Given the description of an element on the screen output the (x, y) to click on. 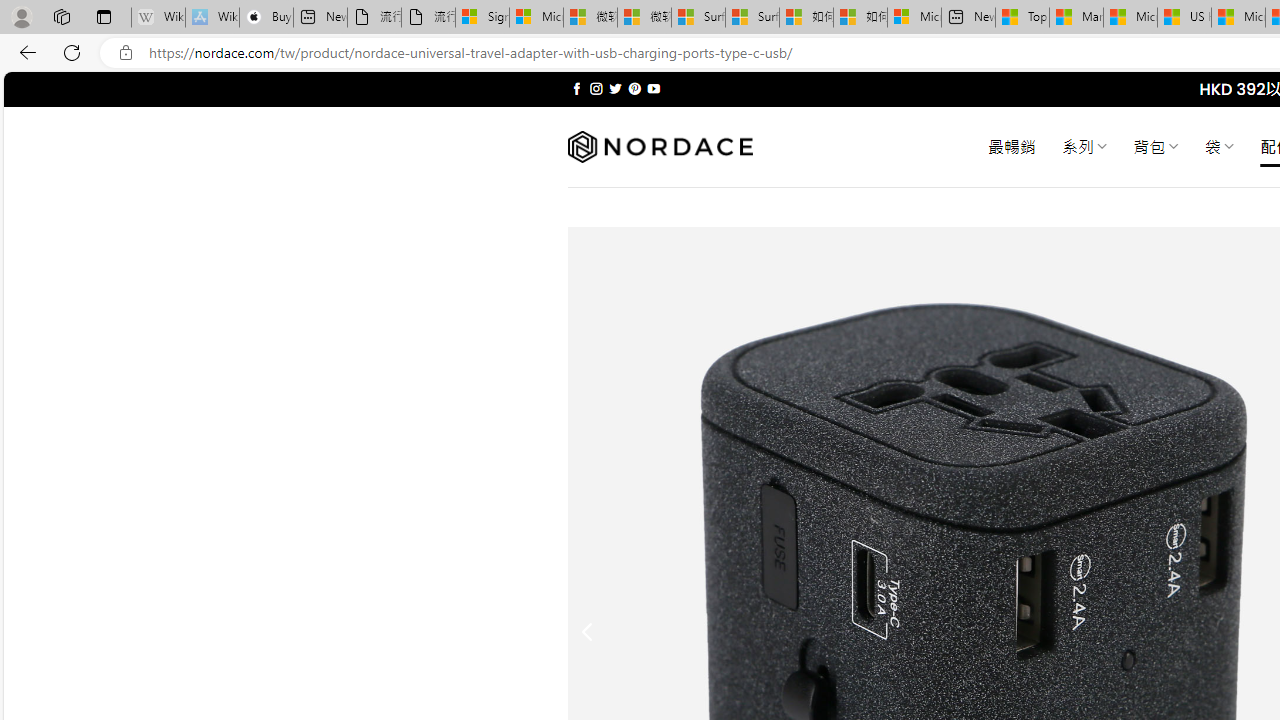
Follow on Twitter (615, 88)
Wikipedia - Sleeping (158, 17)
US Heat Deaths Soared To Record High Last Year (1184, 17)
Buy iPad - Apple (266, 17)
Follow on YouTube (653, 88)
Microsoft account | Account Checkup (914, 17)
